Given the description of an element on the screen output the (x, y) to click on. 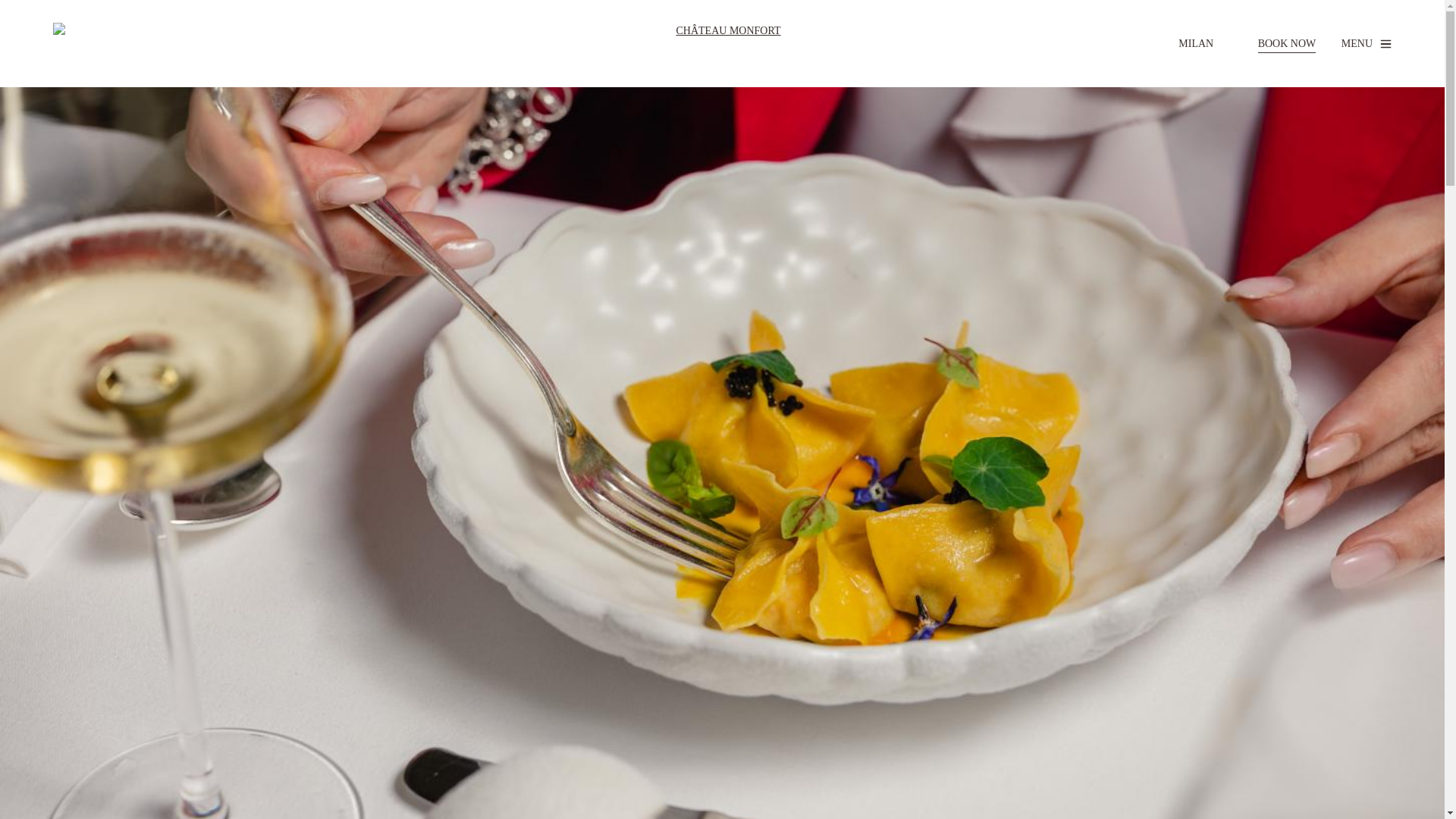
MILAN (1204, 43)
Menu (1365, 43)
Milan (1204, 43)
MENU (1365, 43)
BOOK NOW (1286, 43)
Book Now (1286, 43)
